Given the description of an element on the screen output the (x, y) to click on. 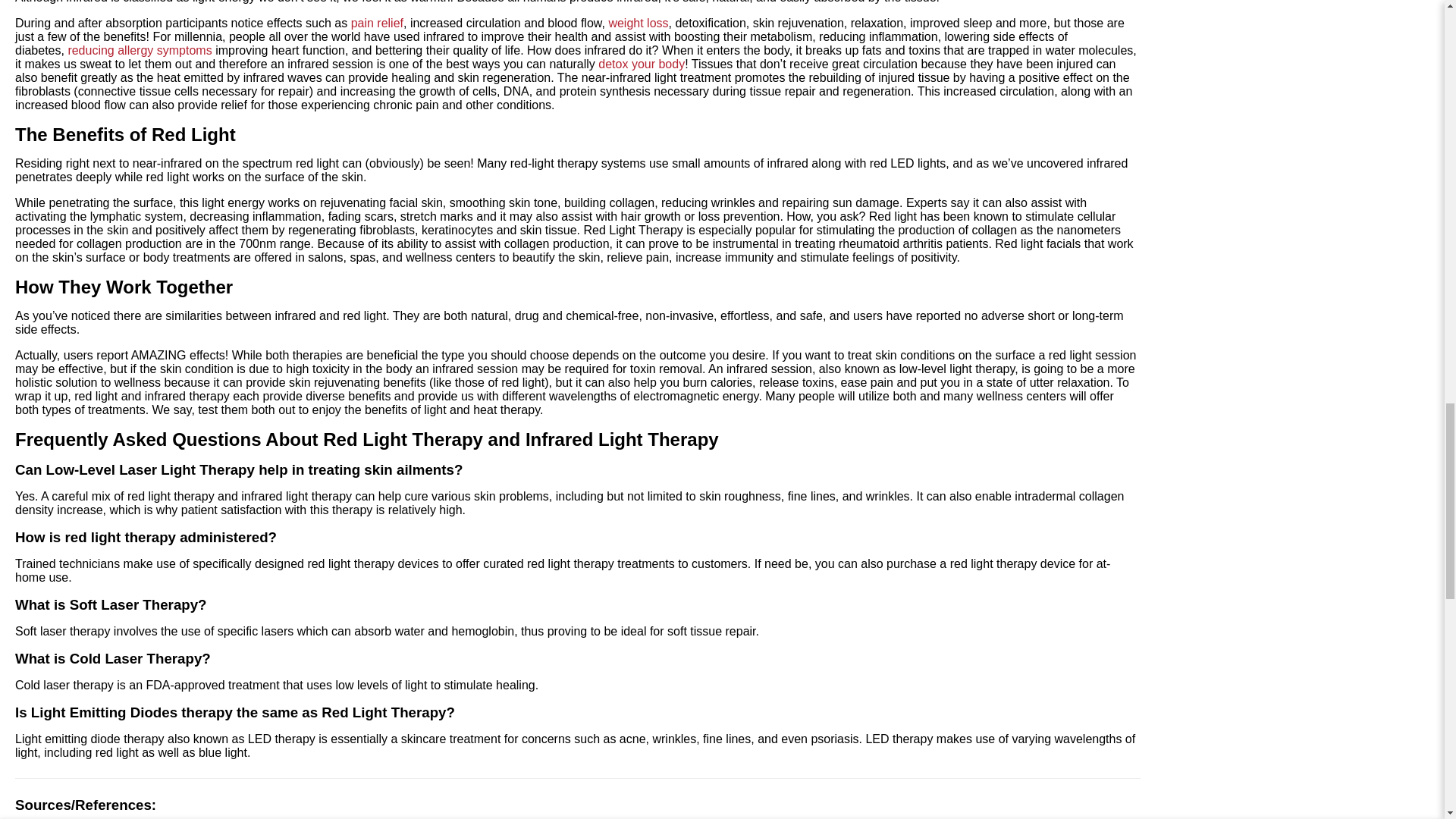
detox your body (641, 63)
pain relief (376, 22)
weight loss (638, 22)
reducing allergy symptoms (138, 50)
